Given the description of an element on the screen output the (x, y) to click on. 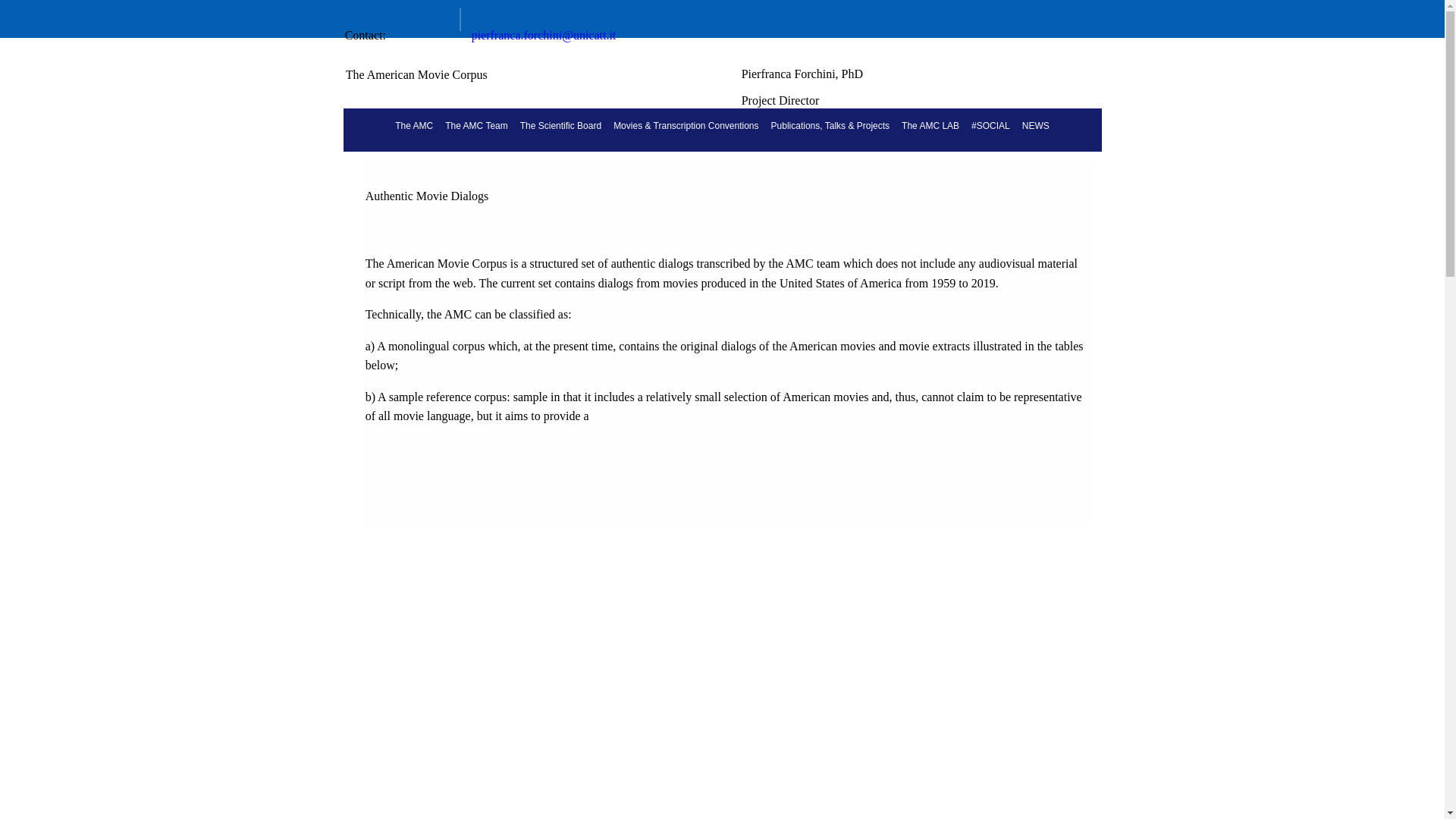
The AMC LAB (930, 124)
The AMC Team (476, 124)
The Scientific Board (560, 124)
NEWS (1035, 124)
The AMC (413, 124)
